Given the description of an element on the screen output the (x, y) to click on. 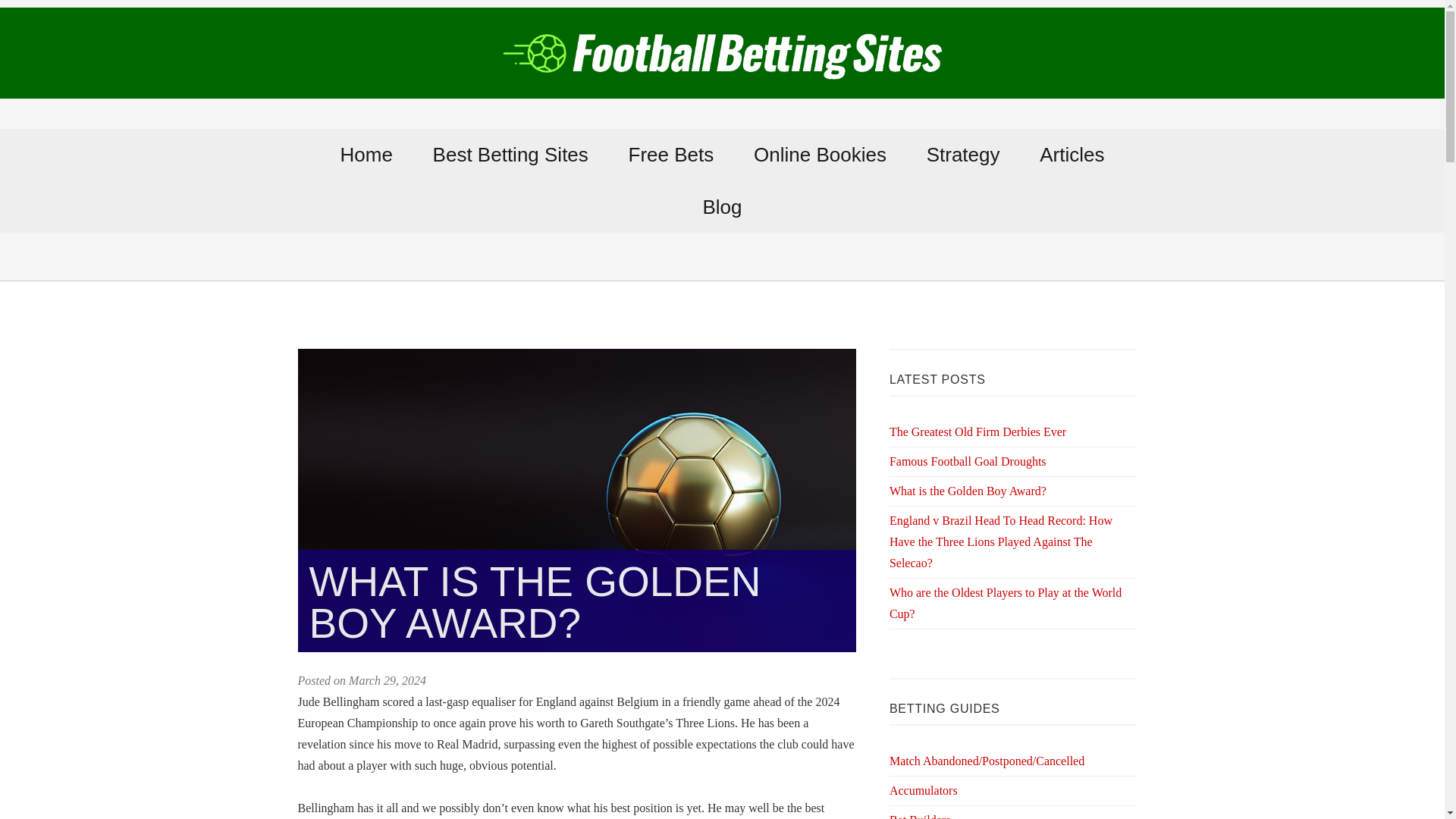
Articles (1071, 154)
Who are the Oldest Players to Play at the World Cup? (1005, 602)
Best Betting Sites (509, 154)
The Greatest Old Firm Derbies Ever (977, 431)
Strategy (962, 154)
Blog (722, 206)
Accumulators (923, 789)
Bet Builders (919, 816)
Famous Football Goal Droughts (967, 461)
Home (366, 154)
What is the Golden Boy Award? (967, 490)
Online Bookies (819, 154)
Free Bets (670, 154)
